Given the description of an element on the screen output the (x, y) to click on. 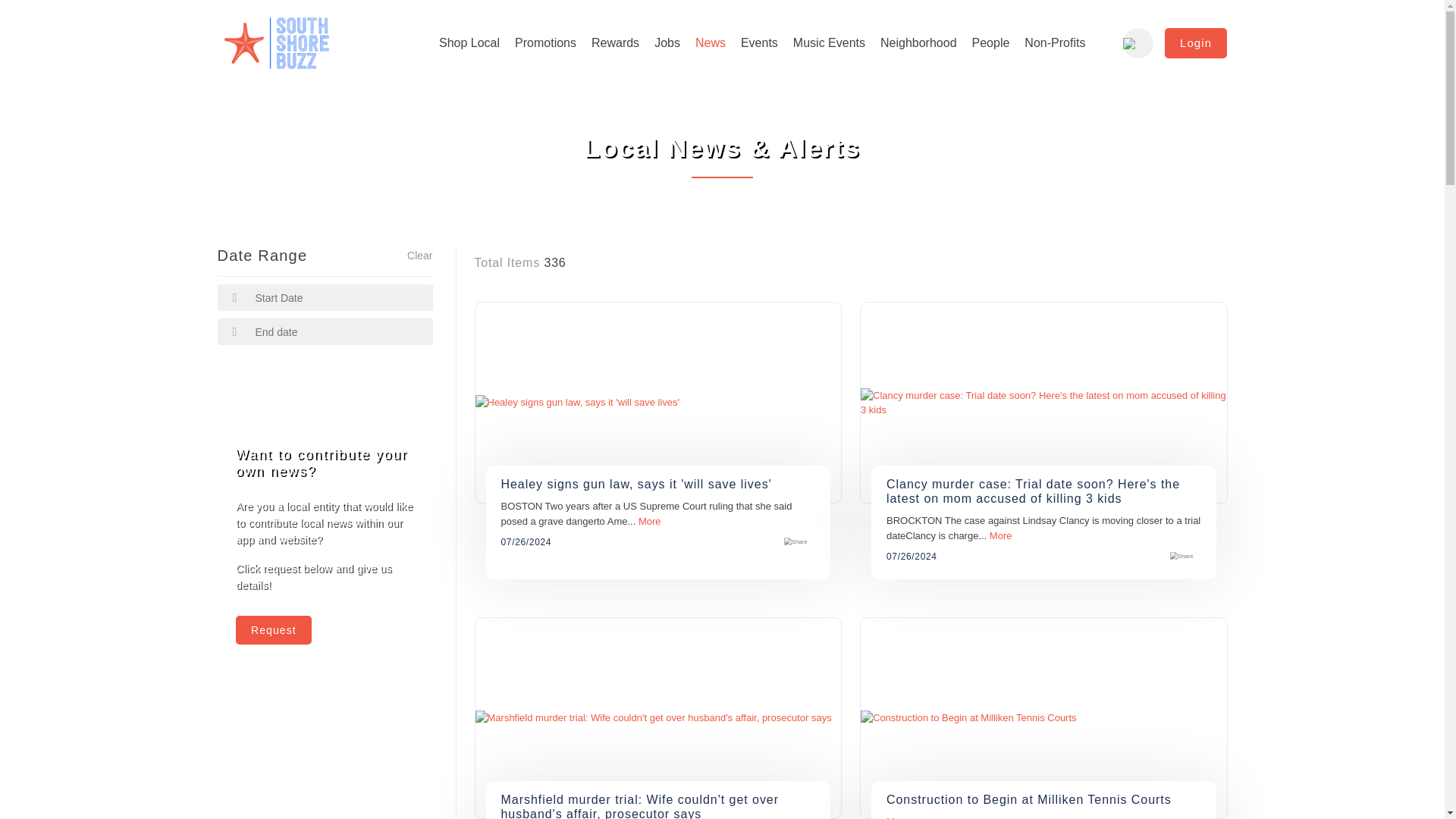
People (990, 43)
Request (272, 629)
Shop Local (468, 43)
Login (1195, 42)
Non-Profits (1054, 43)
Rewards (614, 43)
Neighborhood (917, 43)
more (1000, 534)
News (710, 43)
Promotions (544, 43)
Share (795, 541)
Jobs (666, 43)
Music Events (829, 43)
Share (1181, 556)
more (650, 521)
